Given the description of an element on the screen output the (x, y) to click on. 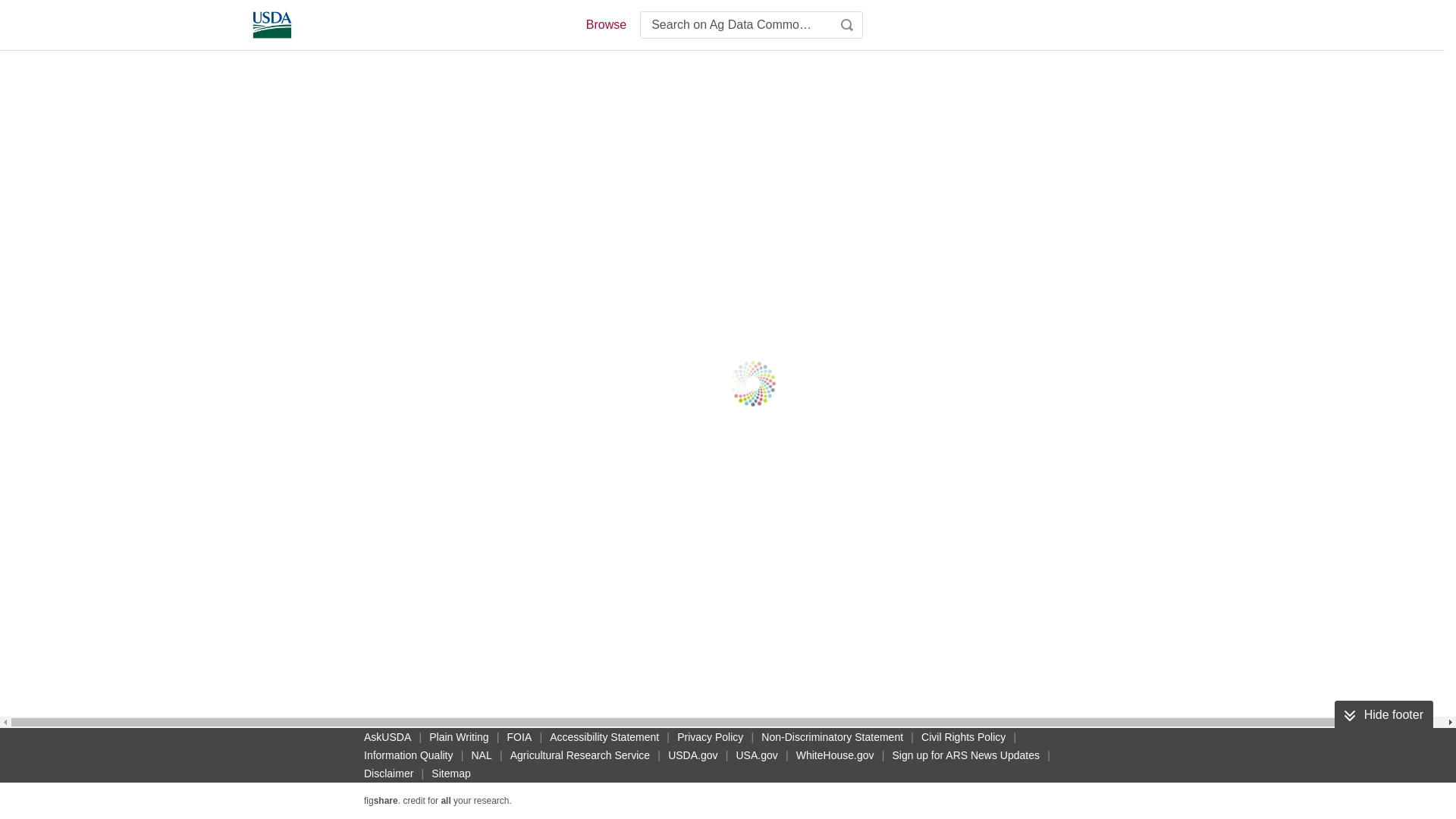
Accessibility Statement (603, 737)
Non-Discriminatory Statement (832, 737)
AskUSDA (386, 737)
Disclaimer (388, 773)
Civil Rights Policy (963, 737)
Plain Writing (459, 737)
WhiteHouse.gov (835, 755)
Sitemap (450, 773)
USDA.gov (692, 755)
Browse (605, 24)
Information Quality (408, 755)
NAL (481, 755)
Hide footer (1383, 715)
Agricultural Research Service (579, 755)
USA.gov (755, 755)
